Given the description of an element on the screen output the (x, y) to click on. 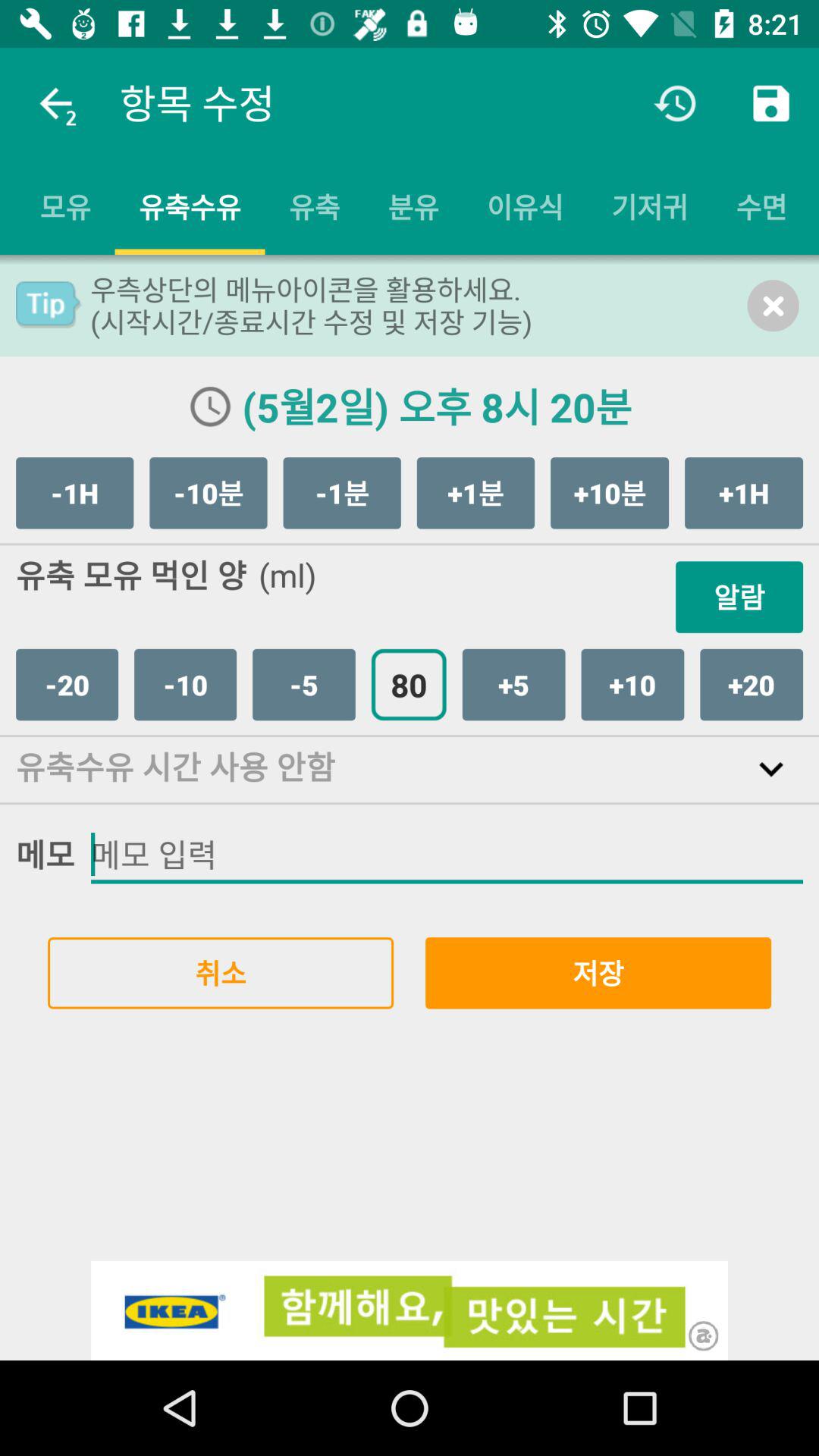
click icon next to (ml) icon (739, 597)
